Given the description of an element on the screen output the (x, y) to click on. 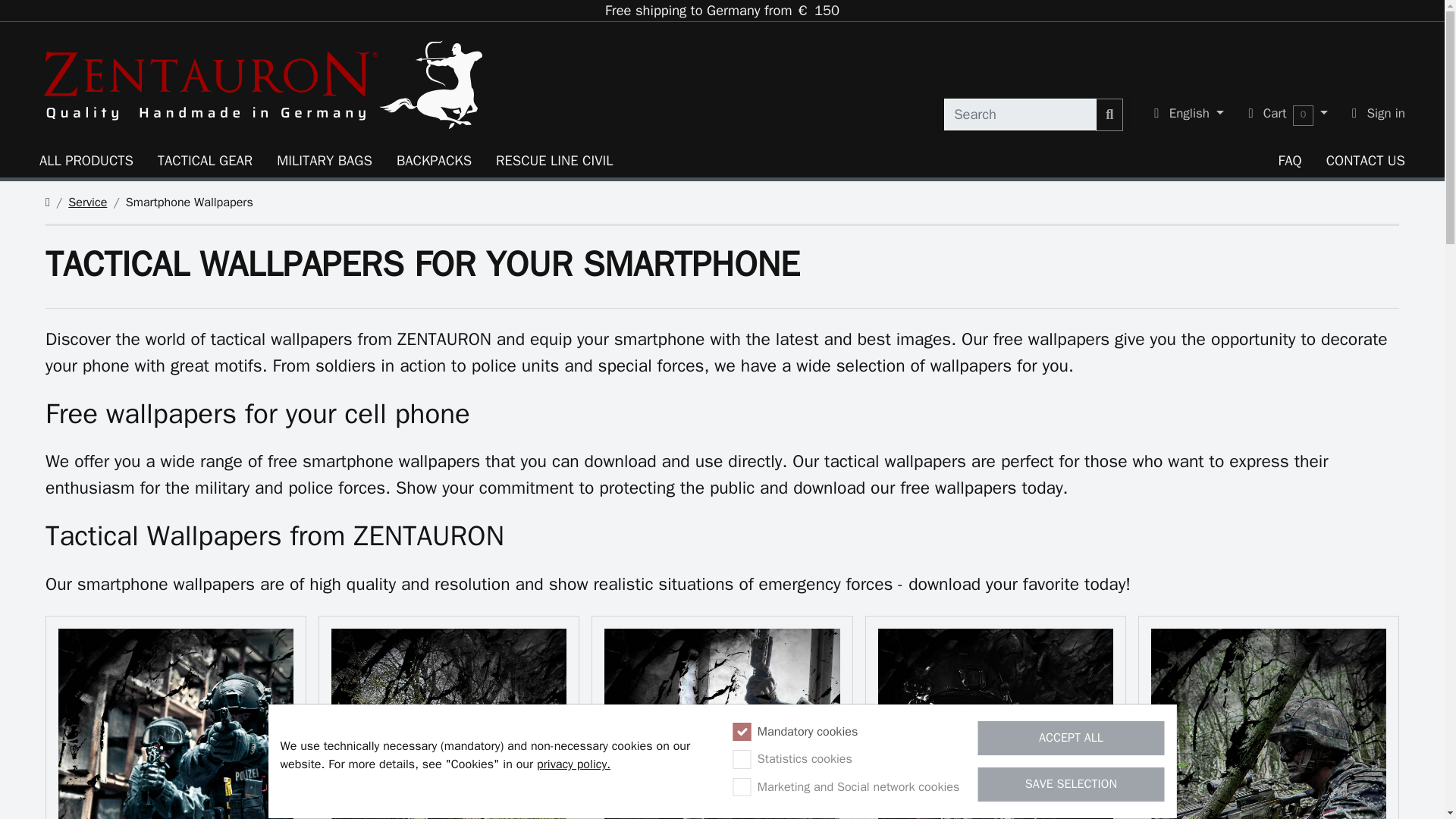
on (742, 787)
on (742, 731)
on (742, 759)
Sign in (1377, 113)
Cart 0 (1287, 114)
English (1188, 113)
View my shopping cart (1287, 114)
Log in to your customer account (1377, 113)
